Given the description of an element on the screen output the (x, y) to click on. 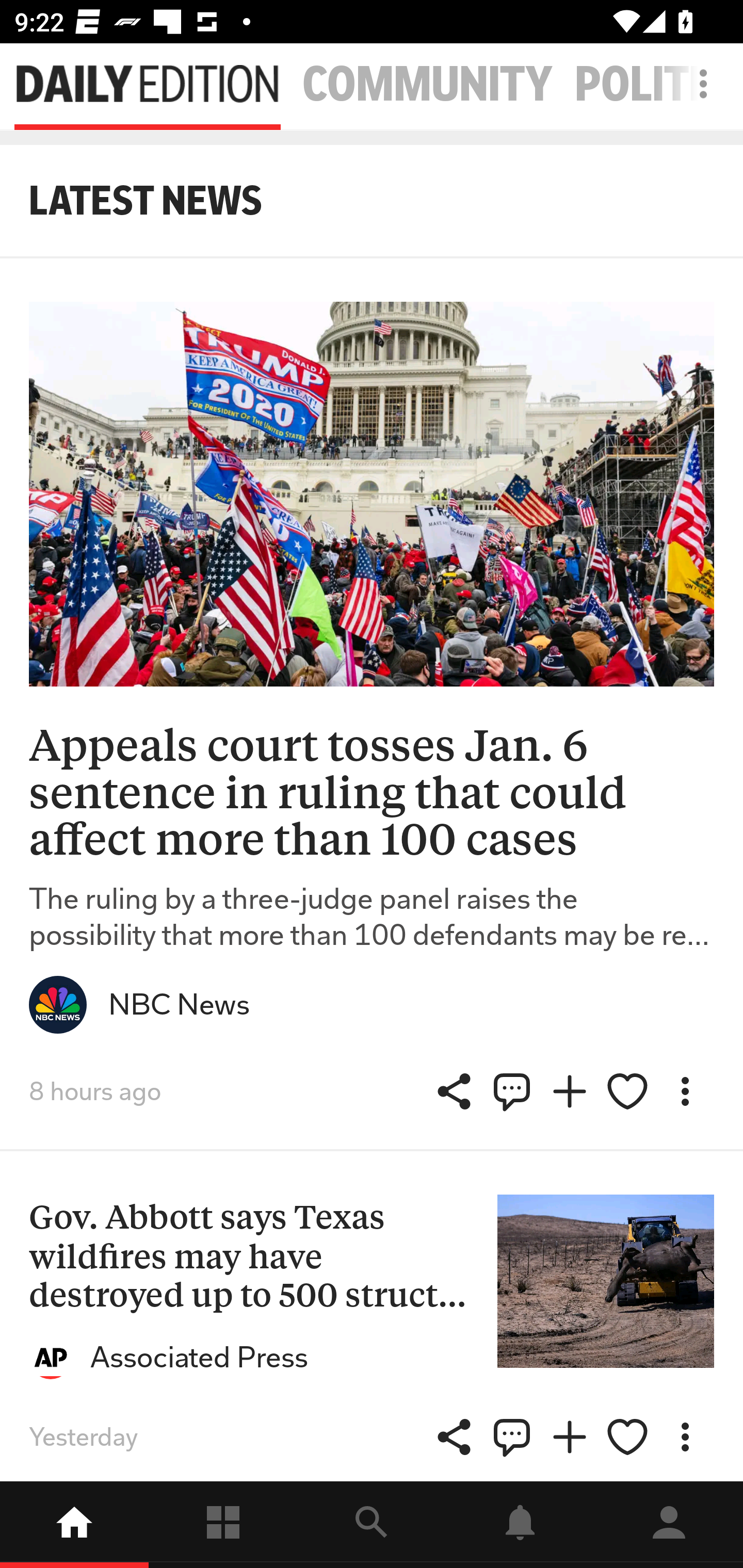
COMMUNITY (427, 84)
POLITICS (659, 84)
Edit Home (697, 83)
Share (453, 1091)
Share (511, 1091)
Flip into Magazine (569, 1091)
Like (627, 1091)
Options (685, 1091)
Share (453, 1437)
Share (511, 1437)
Flip into Magazine (569, 1437)
Like (627, 1437)
Options (685, 1437)
home (74, 1524)
Following (222, 1524)
explore (371, 1524)
Notifications (519, 1524)
Profile (668, 1524)
